Given the description of an element on the screen output the (x, y) to click on. 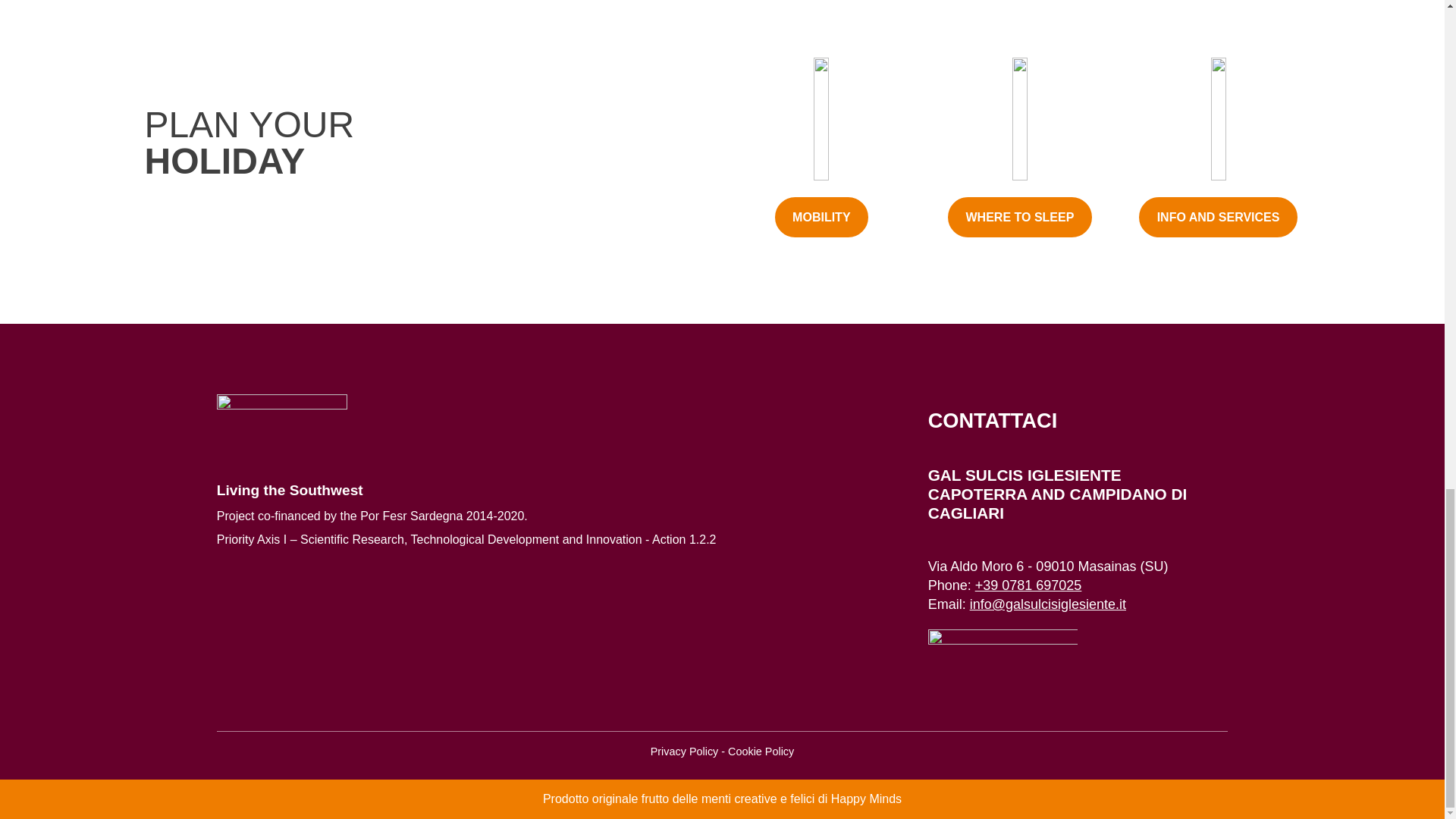
organizza la tua vacanza dove dormire sud ovest sardegna (1019, 118)
organizza la tua vacanza info e servizi sud ovest sardegna (1218, 118)
organizza la tua vacanza mobilita e mappe sud ovest sardegna (821, 118)
Logo light Sud Ovest Sardegna (281, 424)
